Given the description of an element on the screen output the (x, y) to click on. 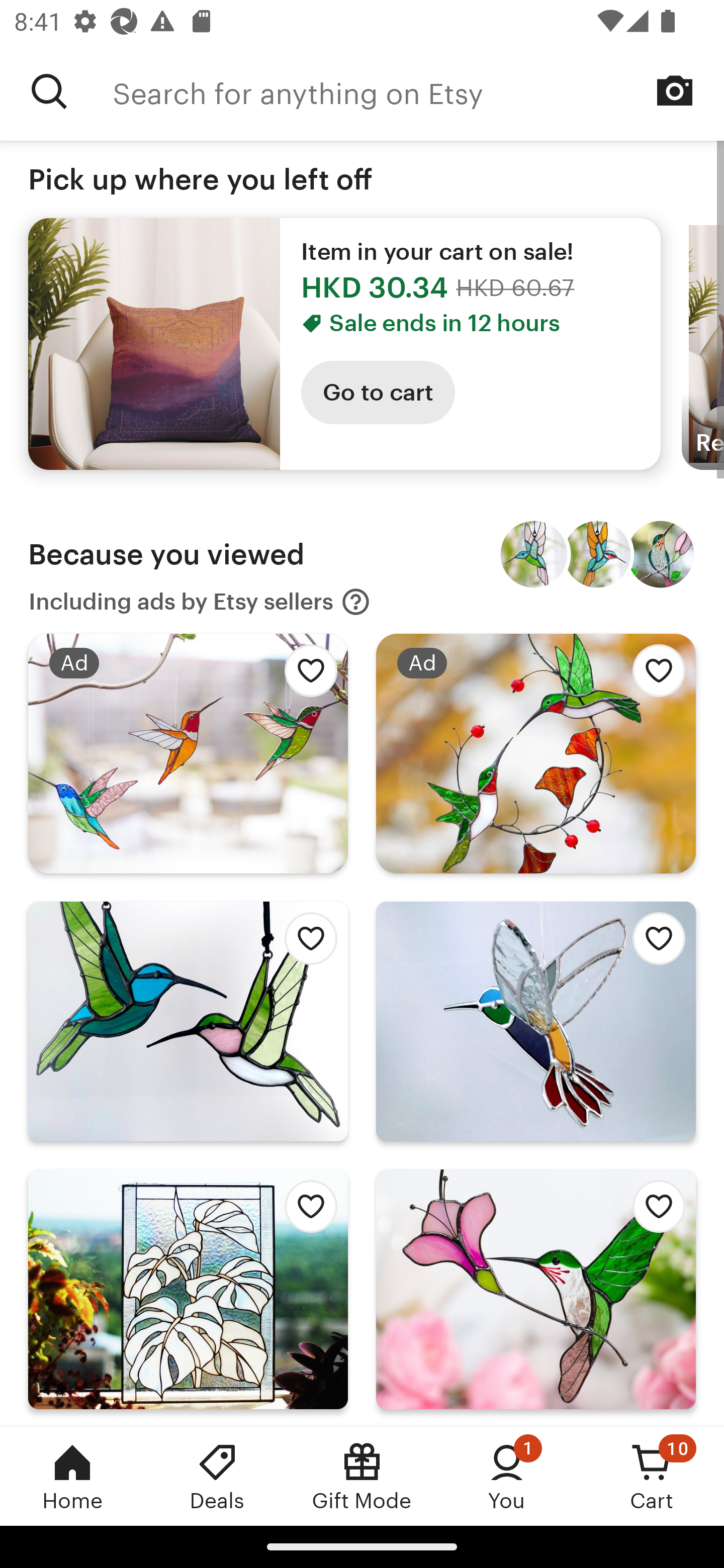
Search for anything on Etsy (49, 91)
Search by image (674, 90)
Search for anything on Etsy (418, 91)
Including ads by Etsy sellers (199, 601)
Deals (216, 1475)
Gift Mode (361, 1475)
You, 1 new notification You (506, 1475)
Cart, 10 new notifications Cart (651, 1475)
